Given the description of an element on the screen output the (x, y) to click on. 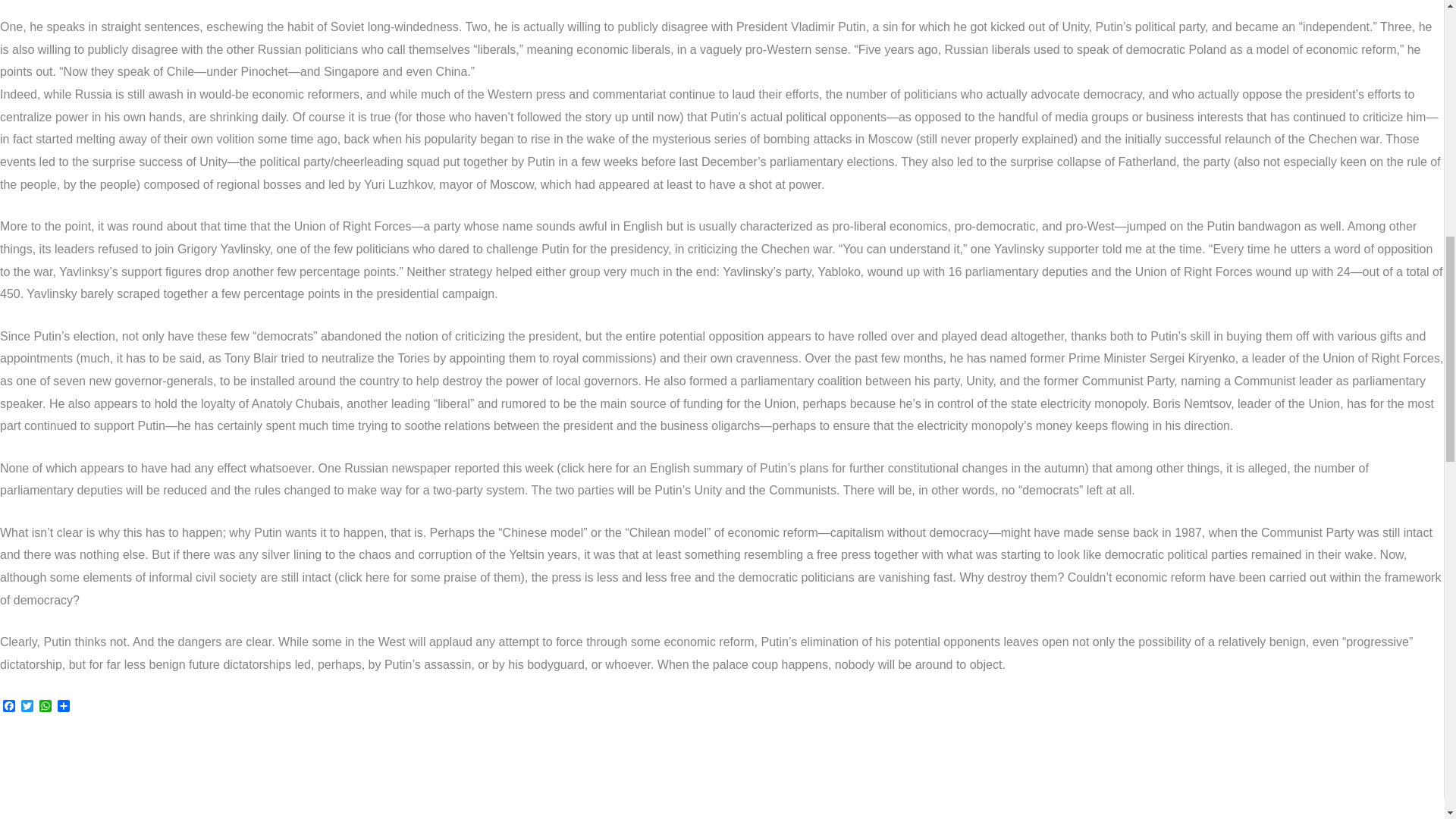
Twitter (26, 707)
Facebook (8, 707)
WhatsApp (45, 707)
